Given the description of an element on the screen output the (x, y) to click on. 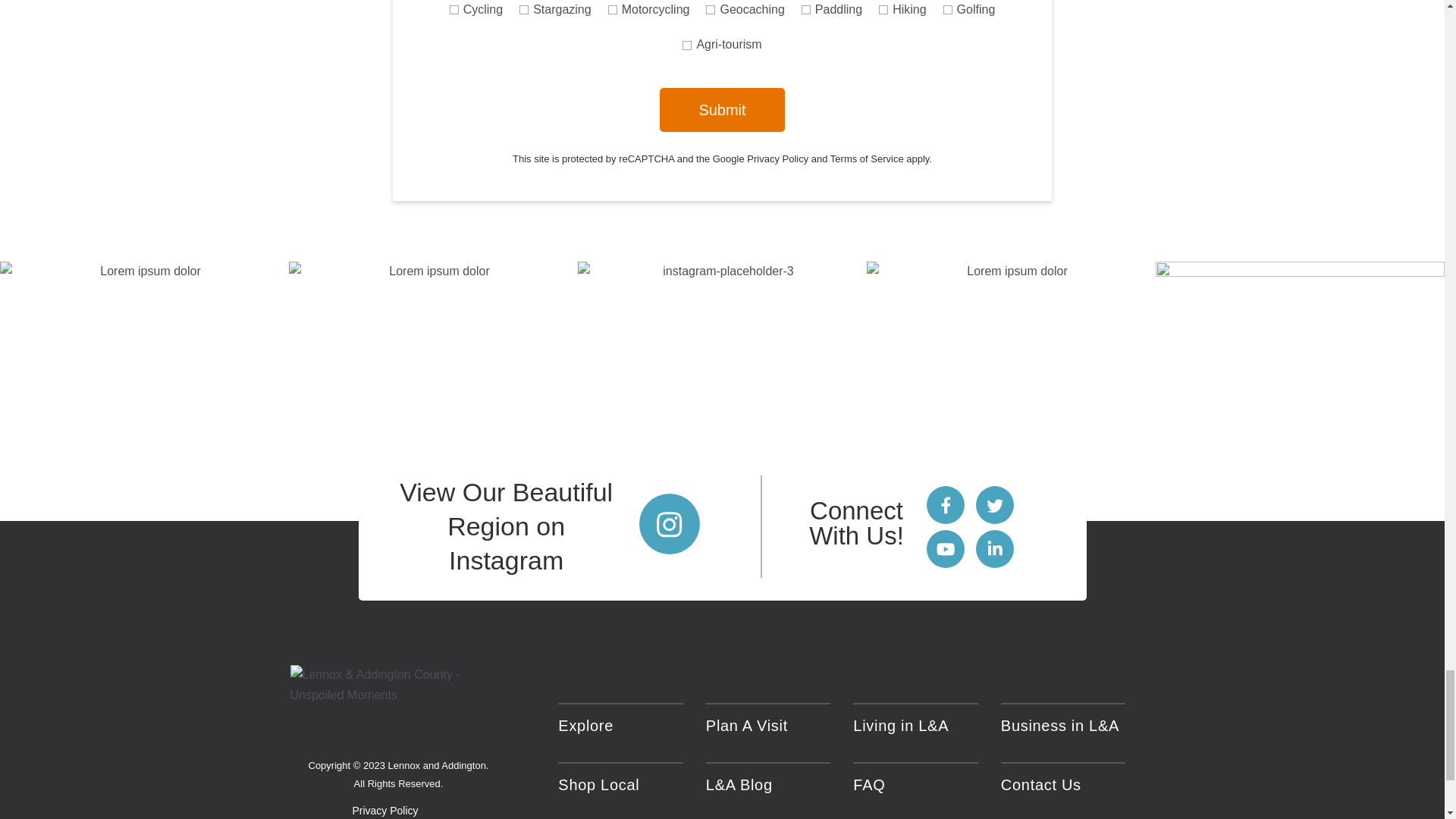
instagram-placeholder-3 (722, 390)
Submit (721, 109)
